Given the description of an element on the screen output the (x, y) to click on. 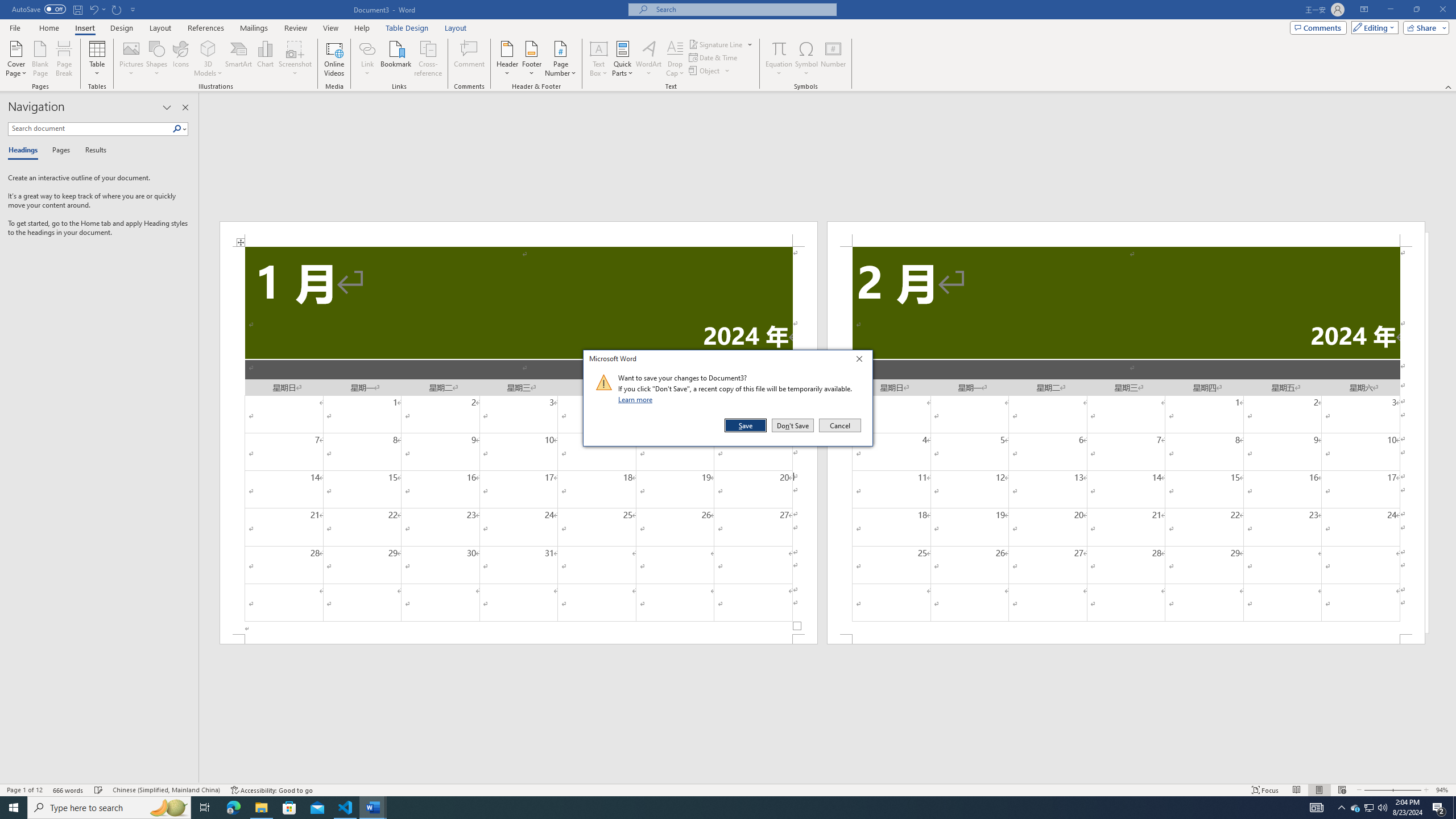
Cover Page (16, 58)
Online Videos... (333, 58)
